Given the description of an element on the screen output the (x, y) to click on. 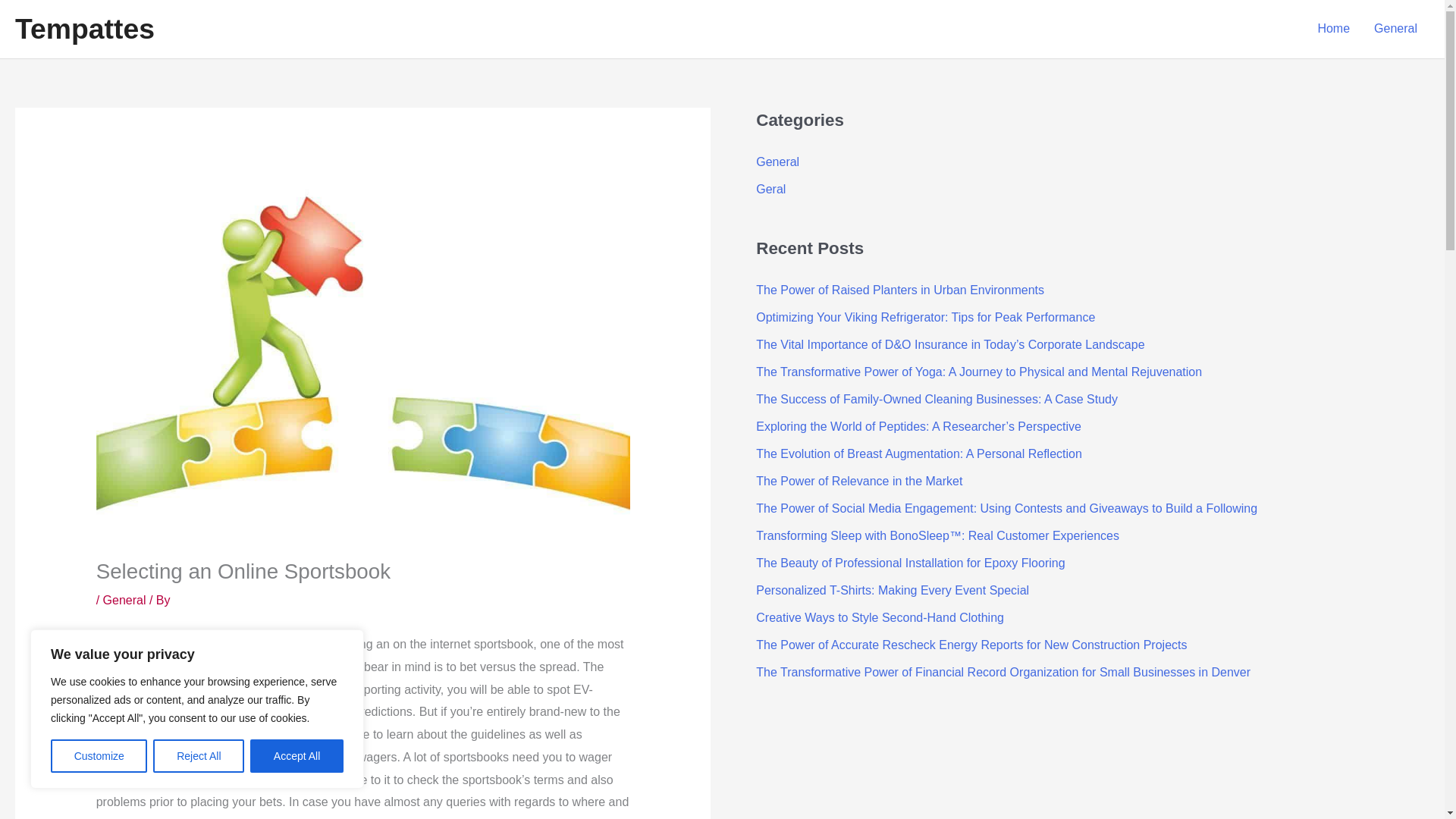
Tempattes (84, 29)
Customize (98, 756)
The Power of Raised Planters in Urban Environments (899, 289)
General (125, 599)
Home (1332, 28)
Reject All (198, 756)
Accept All (296, 756)
General (1395, 28)
General (777, 161)
Geral (770, 188)
